Given the description of an element on the screen output the (x, y) to click on. 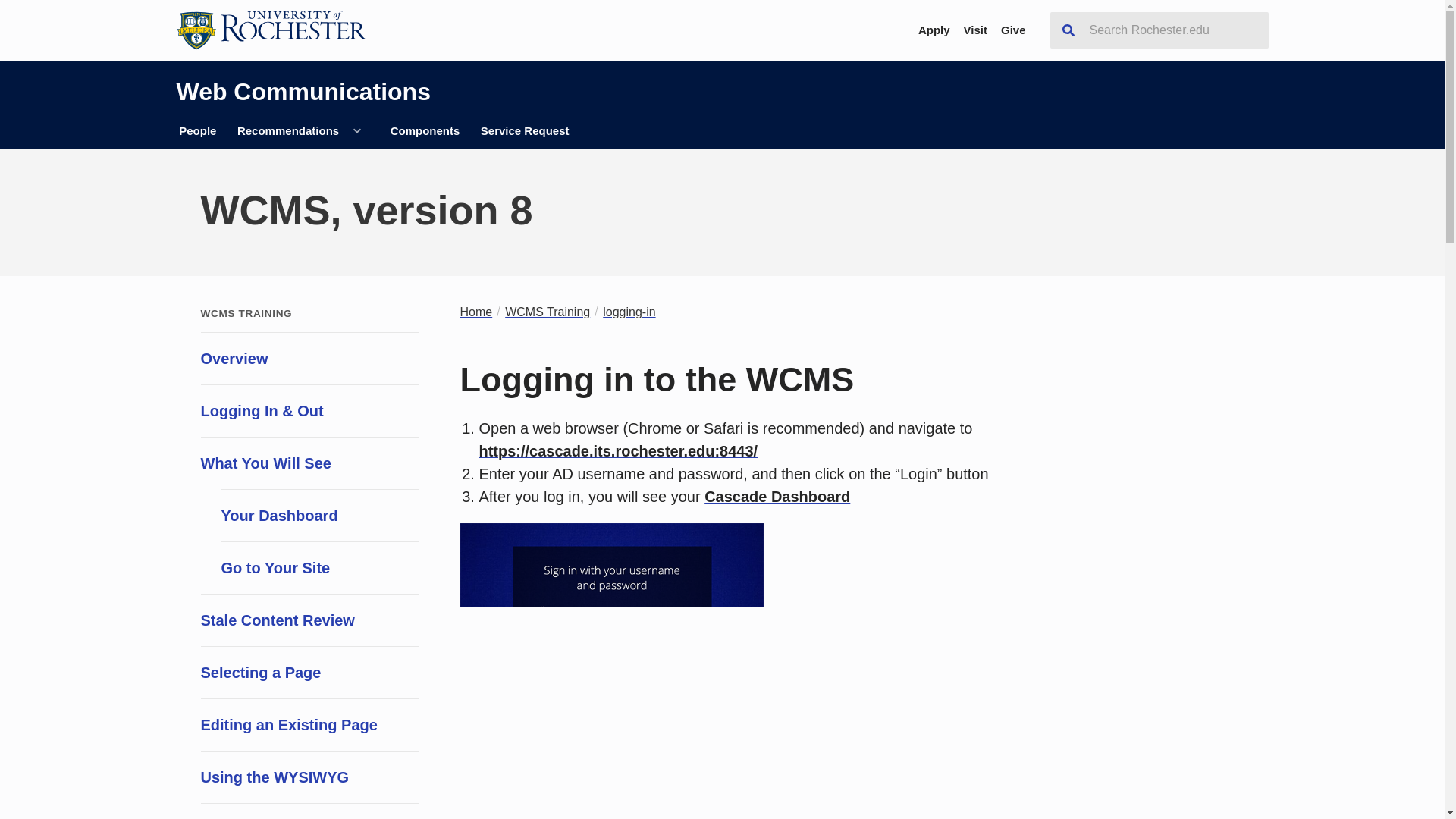
People (197, 131)
Overview (309, 358)
What You Will See (309, 462)
Search (1067, 30)
Recommendations (288, 131)
Components (425, 131)
Creating a Link (309, 811)
Editing an Existing Page (309, 724)
Your Dashboard (320, 514)
WCMS TRAINING (246, 313)
